Given the description of an element on the screen output the (x, y) to click on. 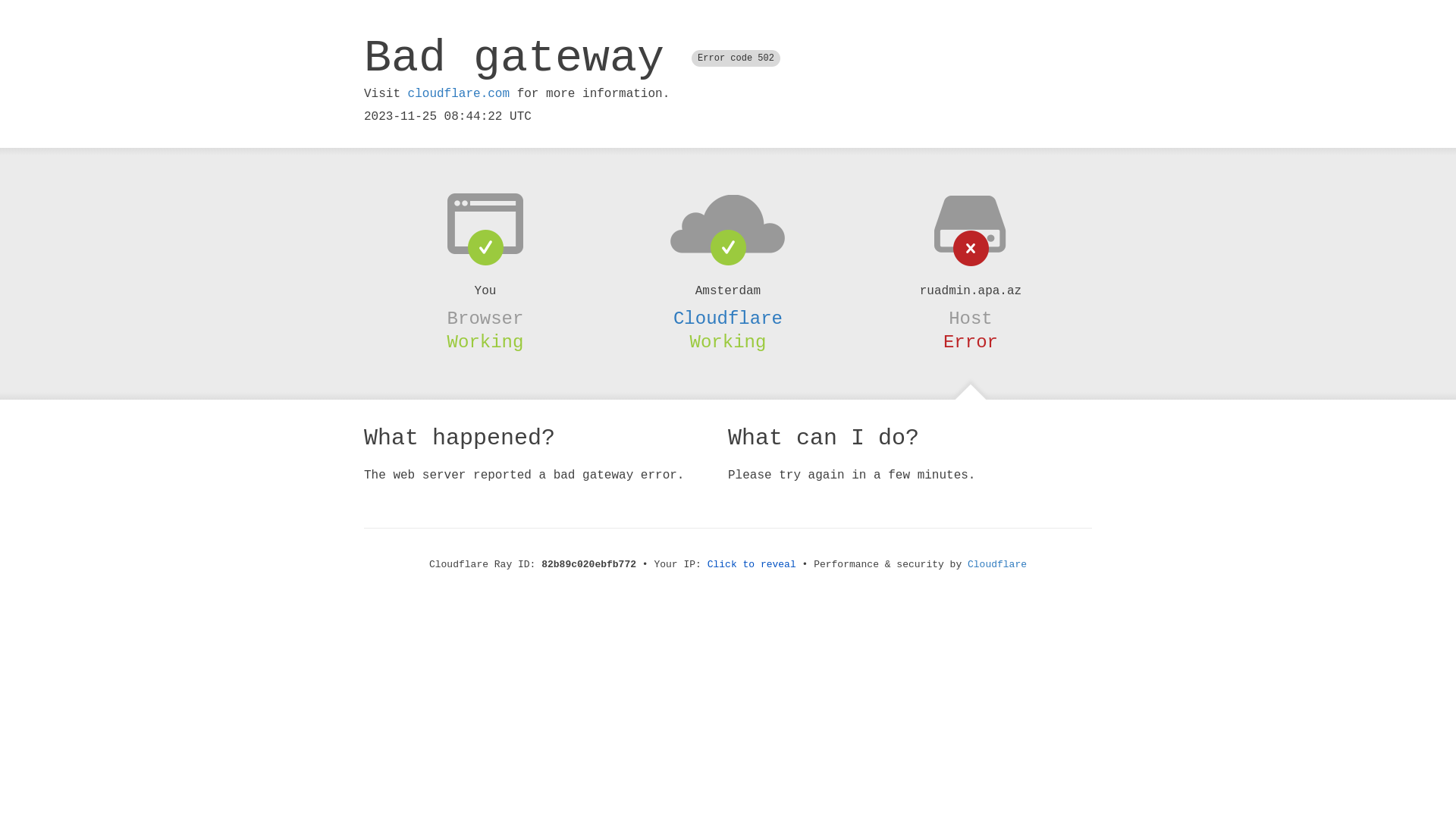
Click to reveal Element type: text (751, 564)
cloudflare.com Element type: text (458, 93)
Cloudflare Element type: text (727, 318)
Cloudflare Element type: text (996, 564)
